Given the description of an element on the screen output the (x, y) to click on. 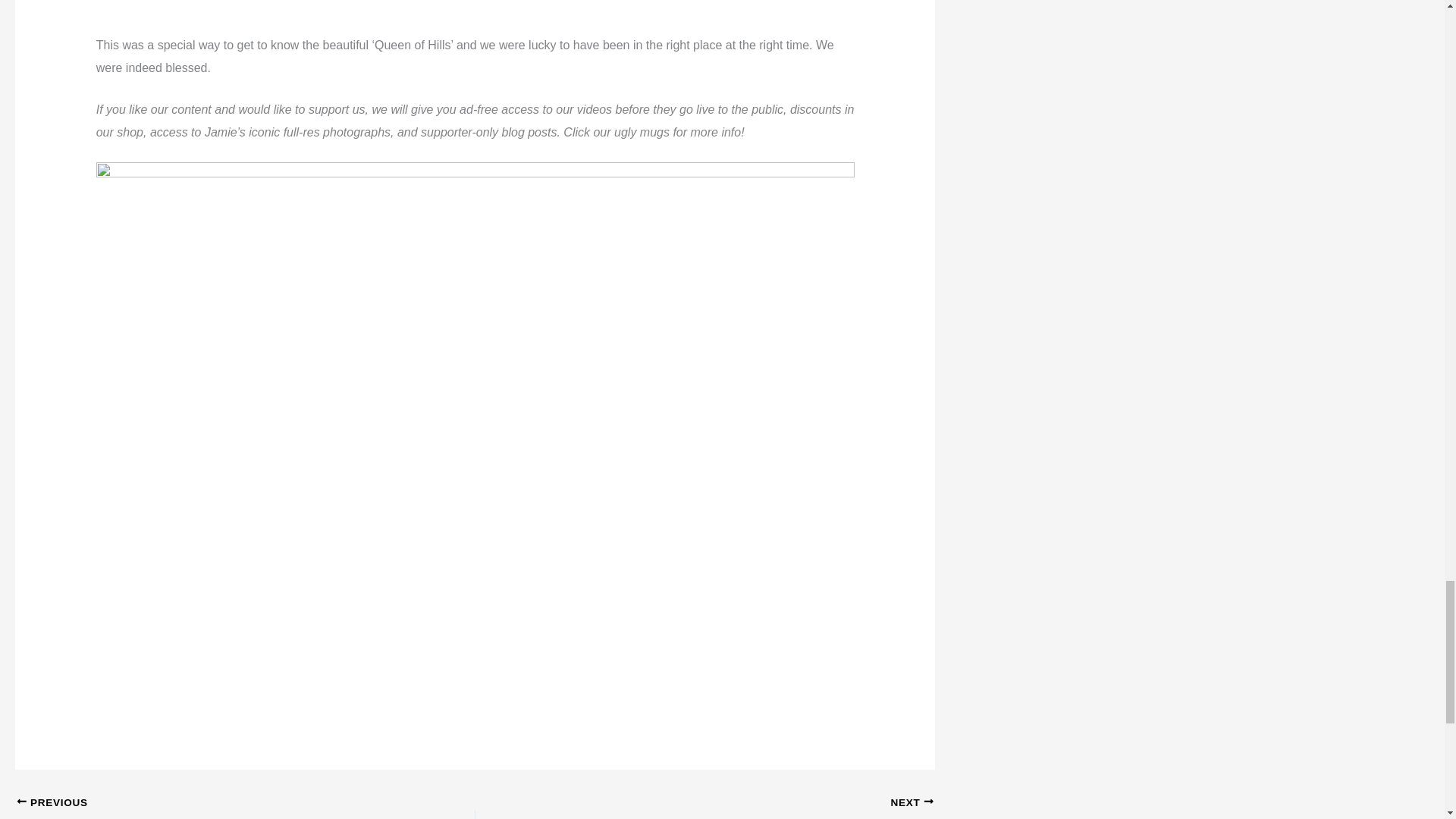
Blessings (474, 17)
Asmara Market, Eritrea (200, 807)
